Given the description of an element on the screen output the (x, y) to click on. 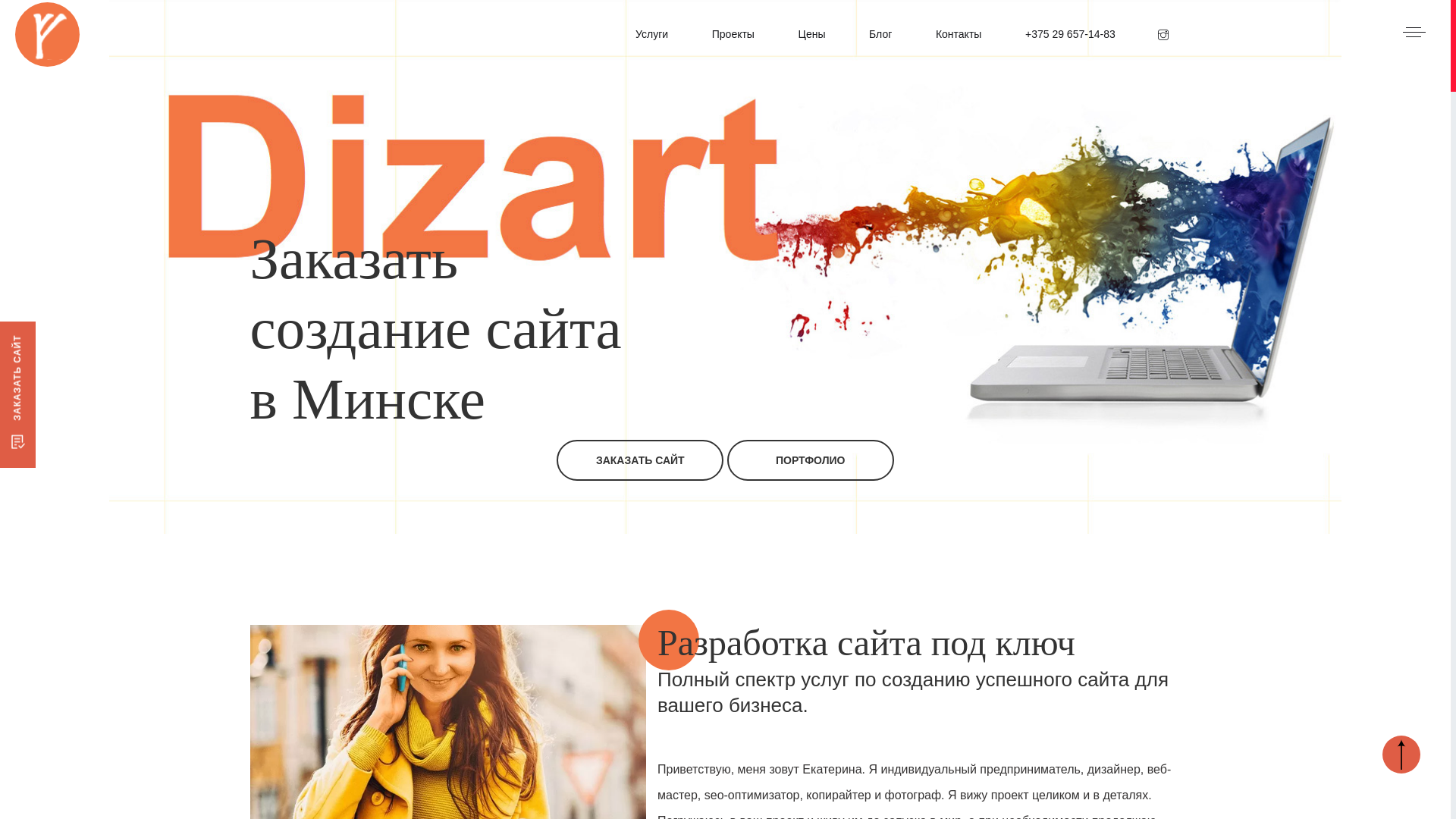
+375 29 657-14-83 Element type: text (1070, 33)
